Given the description of an element on the screen output the (x, y) to click on. 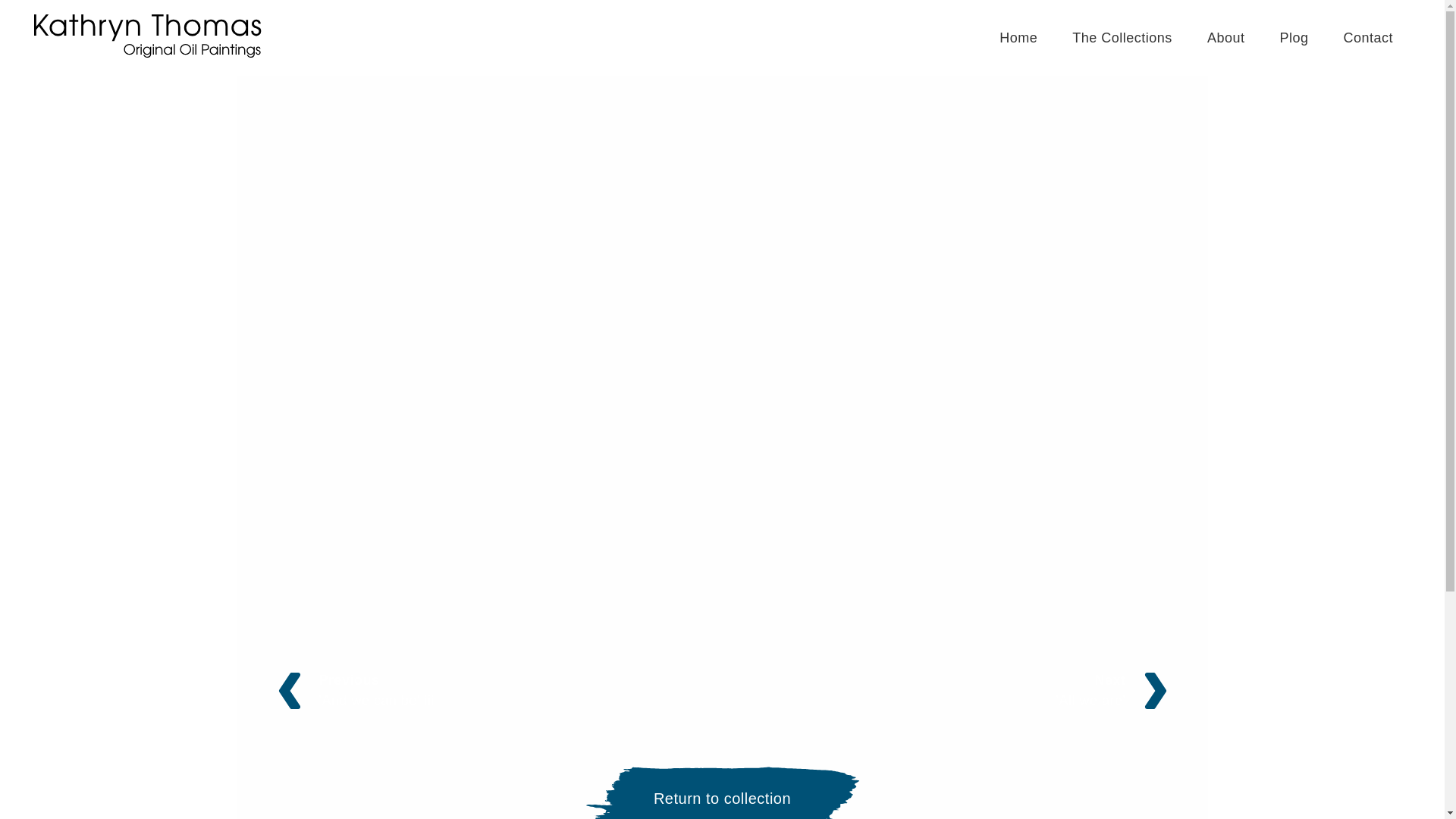
Home (1018, 37)
The Collections (1122, 37)
Return to collection (721, 791)
About (1225, 37)
Plog (496, 690)
Contact (947, 690)
